Given the description of an element on the screen output the (x, y) to click on. 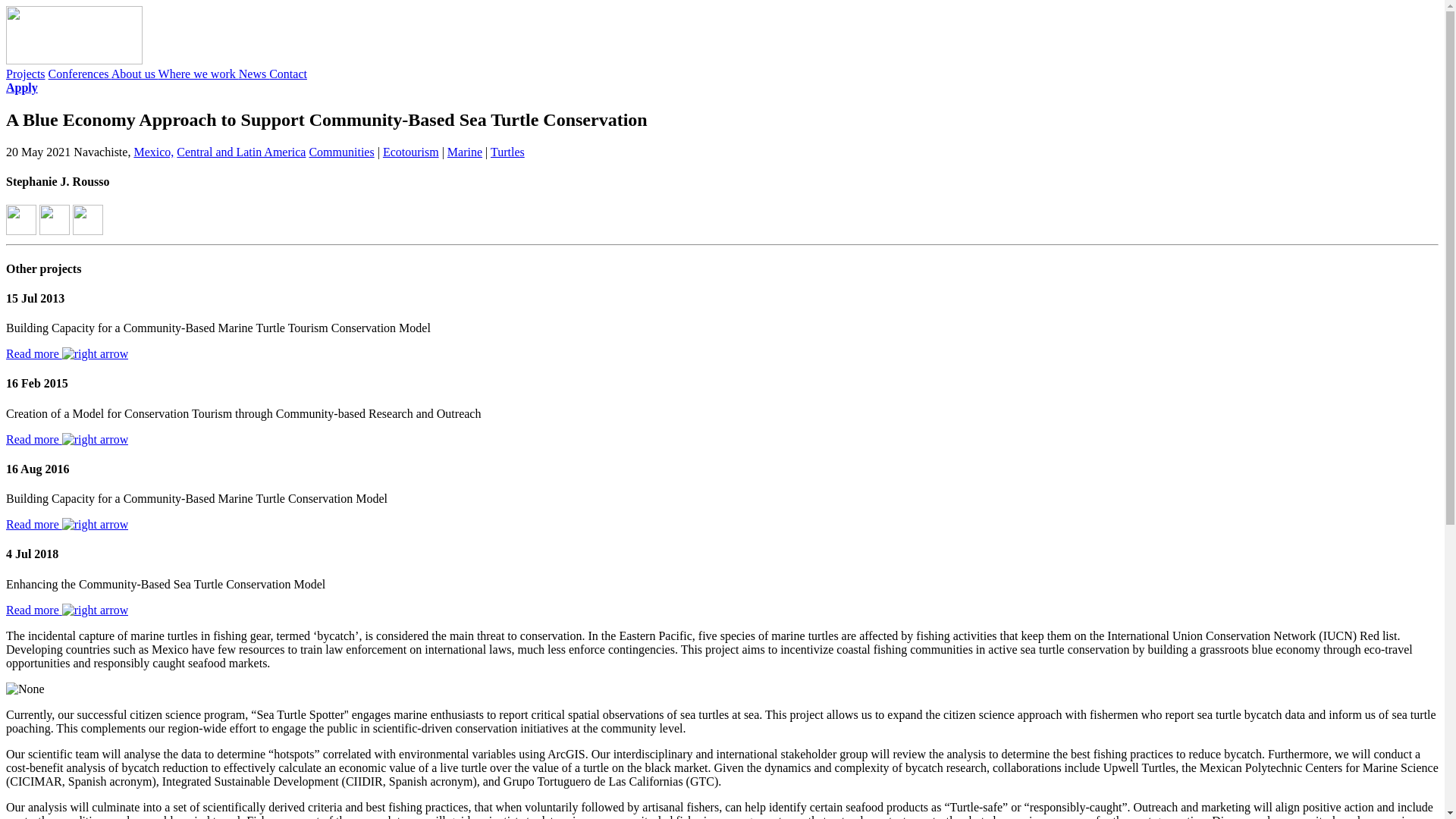
Read more (66, 523)
Turtles (507, 151)
Read more (66, 439)
Read more (66, 609)
Projects (25, 73)
Communities (341, 151)
Conferences (80, 73)
Projects in Mexico (153, 151)
Apply (21, 87)
Ecotourism (410, 151)
Central and Latin America (240, 151)
News (253, 73)
Projects in Ecotourism category (410, 151)
Projects in Marine category (463, 151)
Where we work (198, 73)
